Given the description of an element on the screen output the (x, y) to click on. 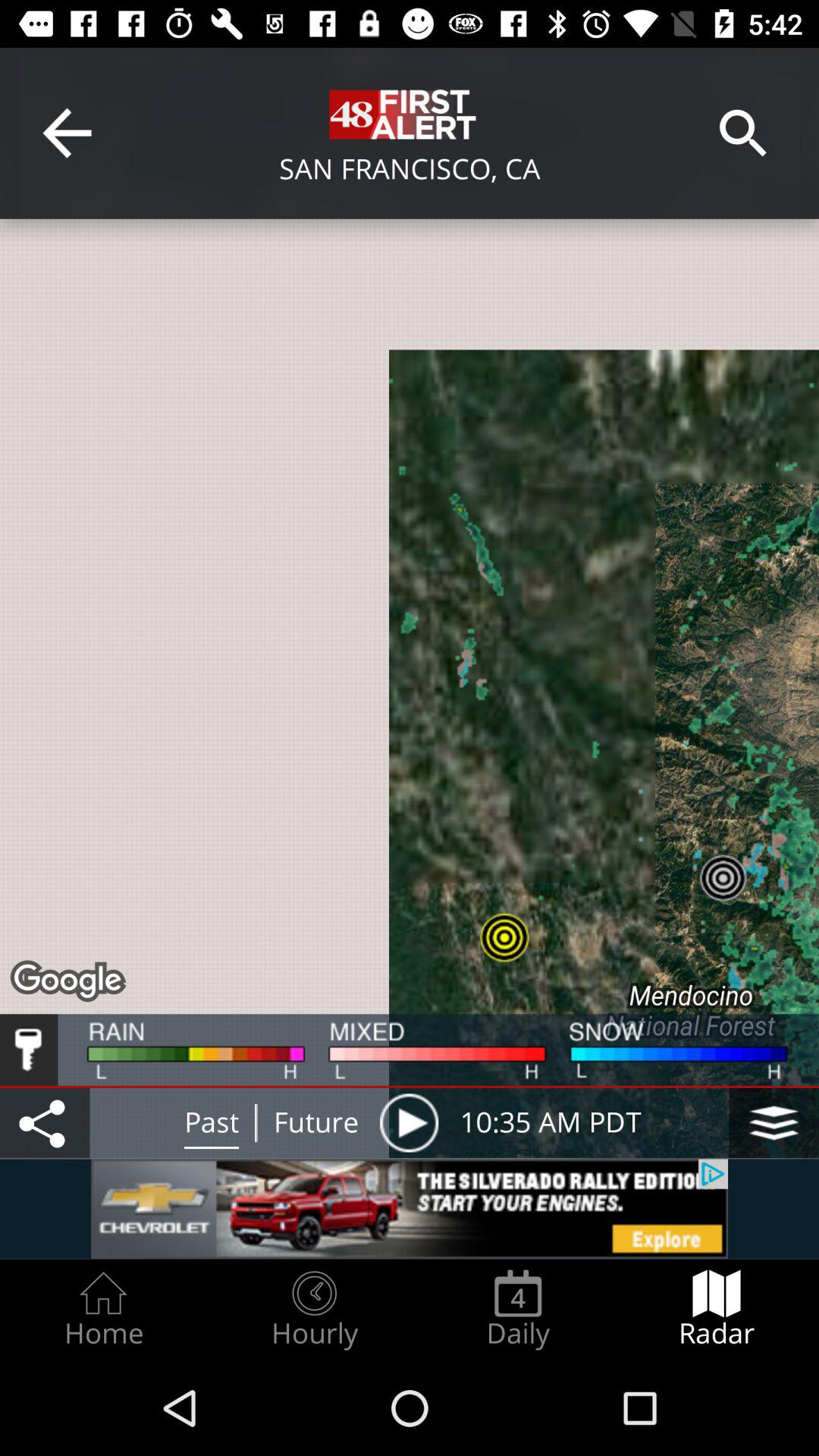
select the item next to 10 35 am (409, 1122)
